Given the description of an element on the screen output the (x, y) to click on. 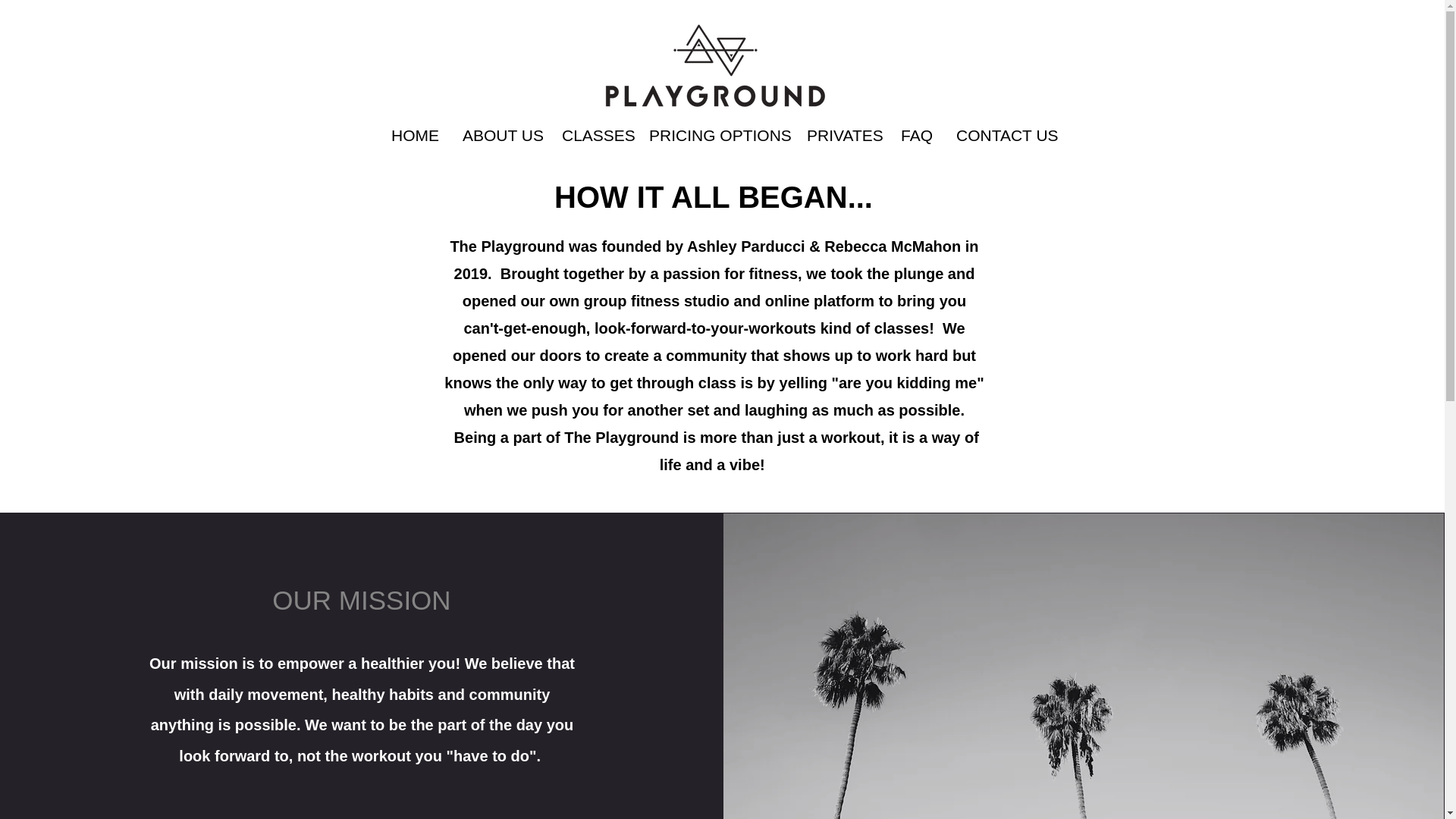
HOME (414, 135)
PRICING OPTIONS (715, 135)
FAQ (916, 135)
PRIVATES (841, 135)
